Given the description of an element on the screen output the (x, y) to click on. 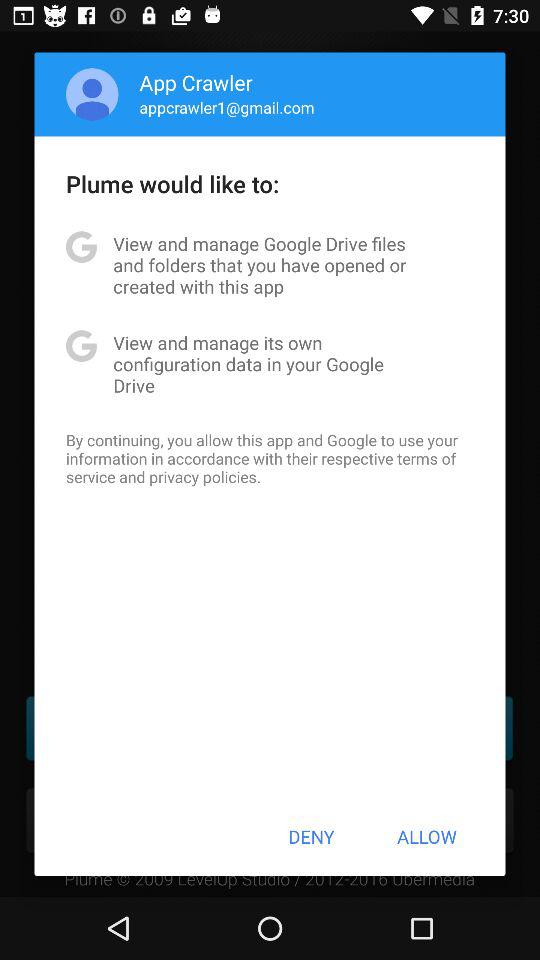
choose appcrawler1@gmail.com (226, 107)
